Given the description of an element on the screen output the (x, y) to click on. 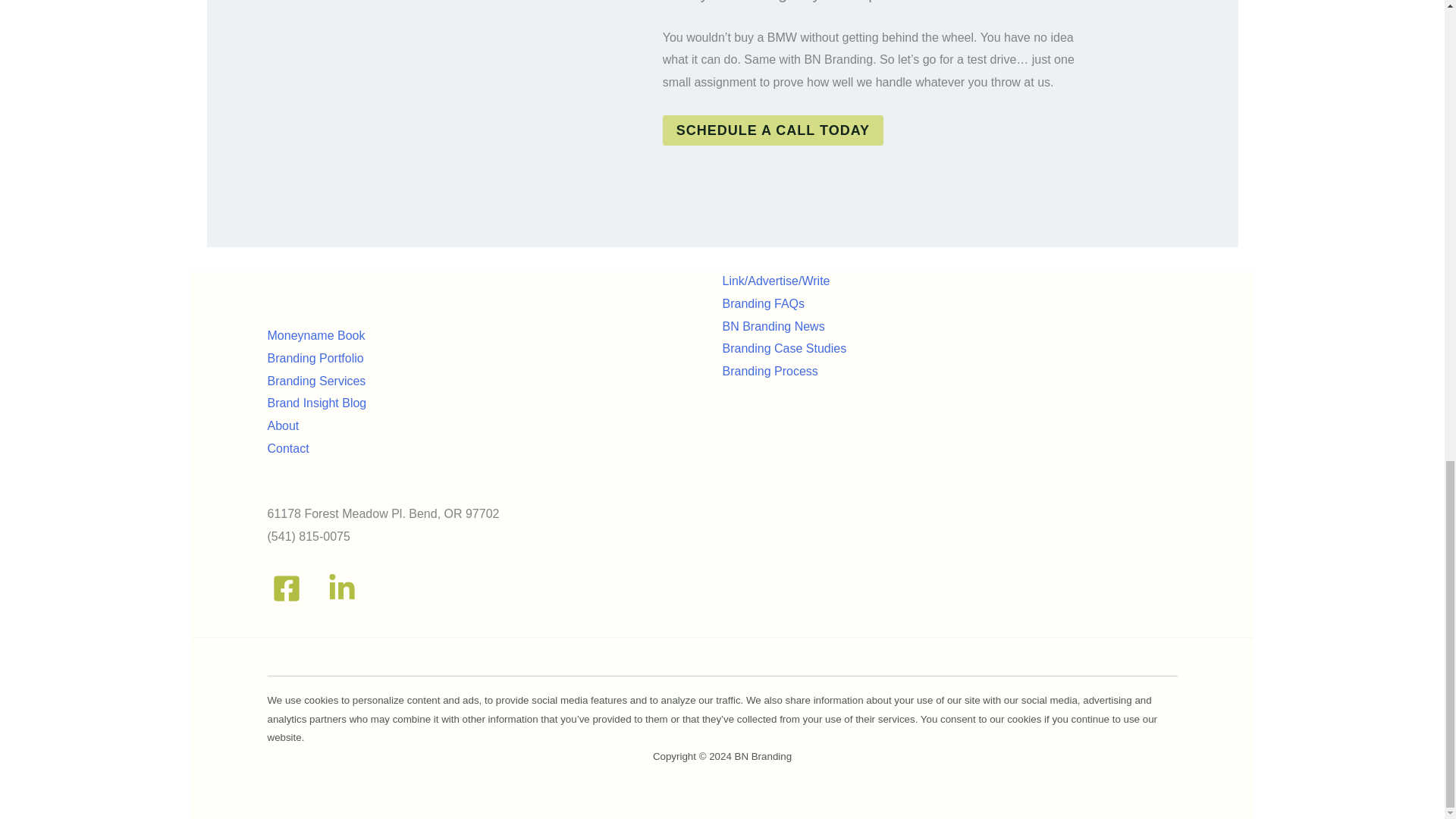
About (282, 425)
Branding Services (315, 380)
Brand Insight Blog (316, 402)
SCHEDULE A CALL TODAY (772, 130)
Branding Portfolio (314, 358)
Moneyname Book (315, 335)
